Given the description of an element on the screen output the (x, y) to click on. 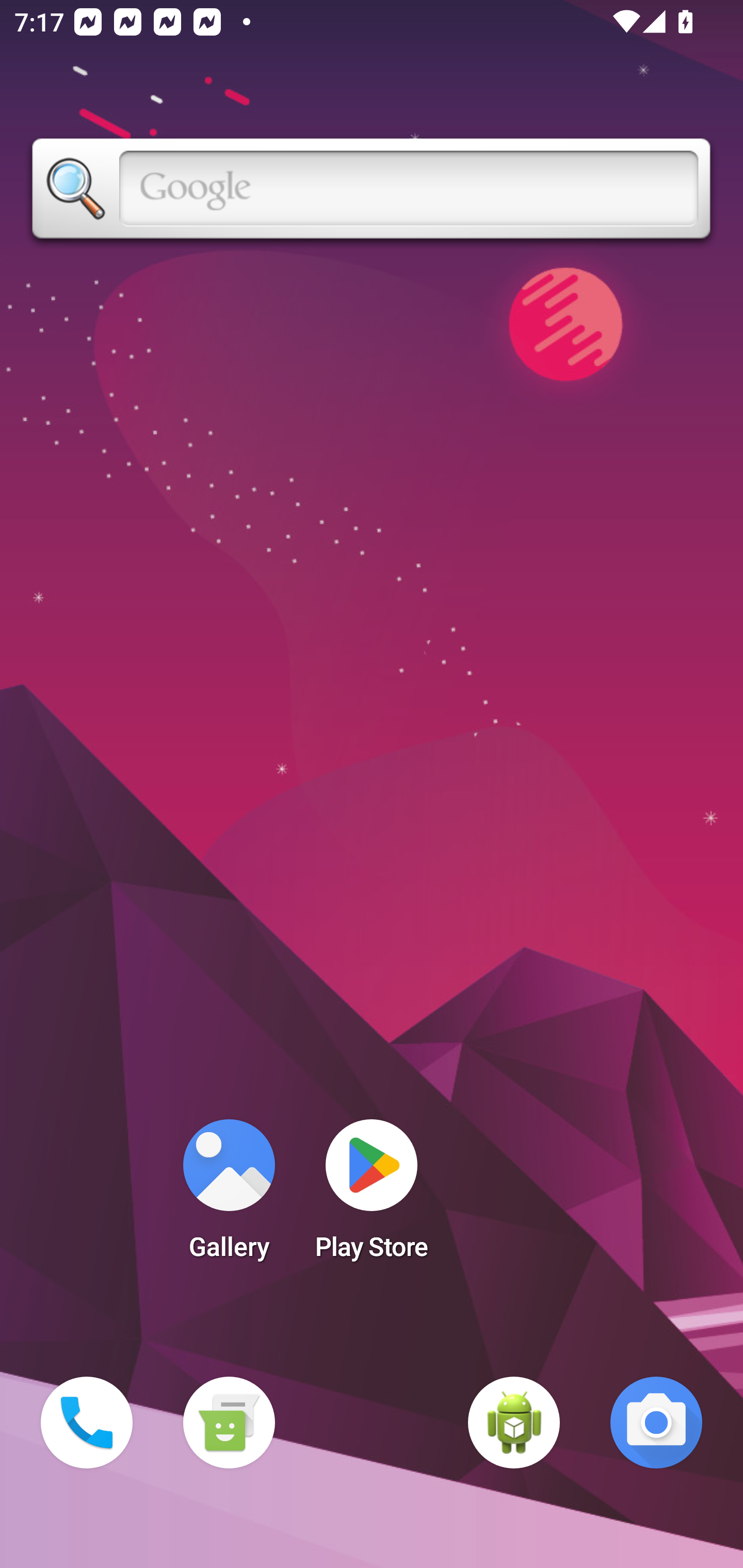
Gallery (228, 1195)
Play Store (371, 1195)
Phone (86, 1422)
Messaging (228, 1422)
WebView Browser Tester (513, 1422)
Camera (656, 1422)
